Given the description of an element on the screen output the (x, y) to click on. 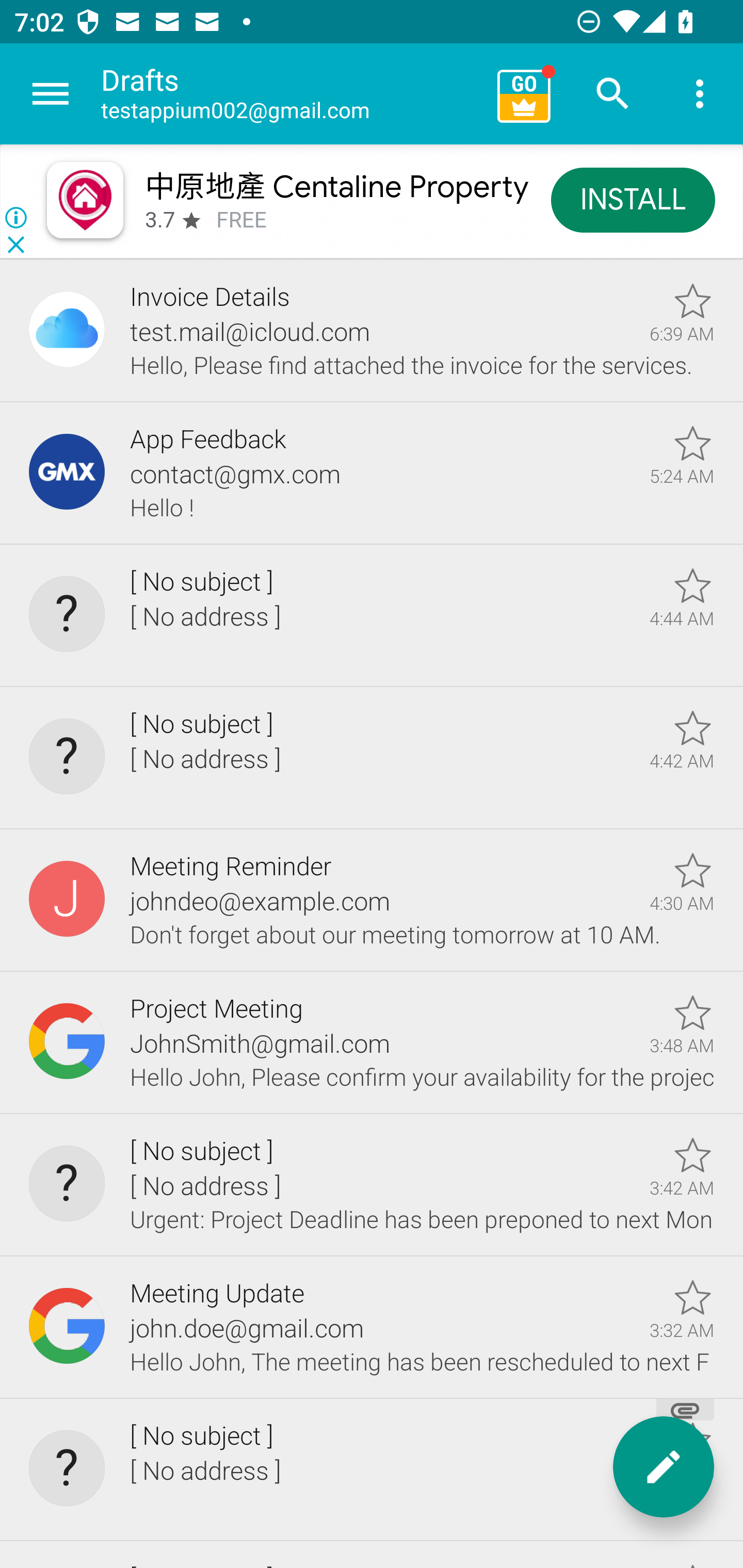
Navigate up (50, 93)
Drafts testappium002@gmail.com (291, 93)
Search (612, 93)
More options (699, 93)
App Feedback, contact@gmx.com, 5:24 AM, Hello ! (371, 473)
[ No subject ], [ No address ], 4:44 AM (371, 615)
[ No subject ], [ No address ], 4:42 AM (371, 757)
New message (663, 1466)
